Given the description of an element on the screen output the (x, y) to click on. 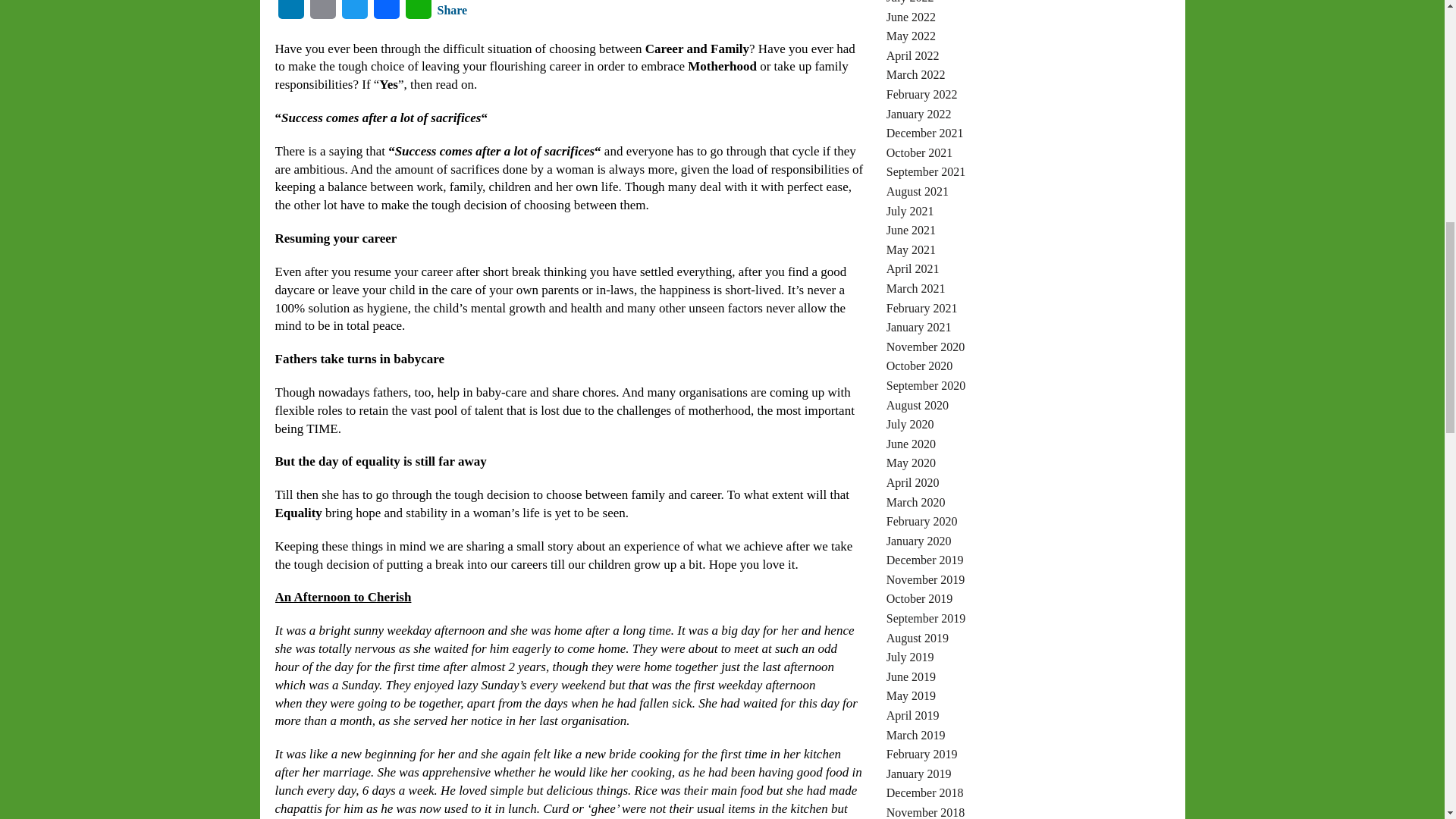
Facebook (385, 13)
Email (321, 13)
Twitter (353, 13)
LinkedIn (290, 13)
WhatsApp (417, 13)
